Given the description of an element on the screen output the (x, y) to click on. 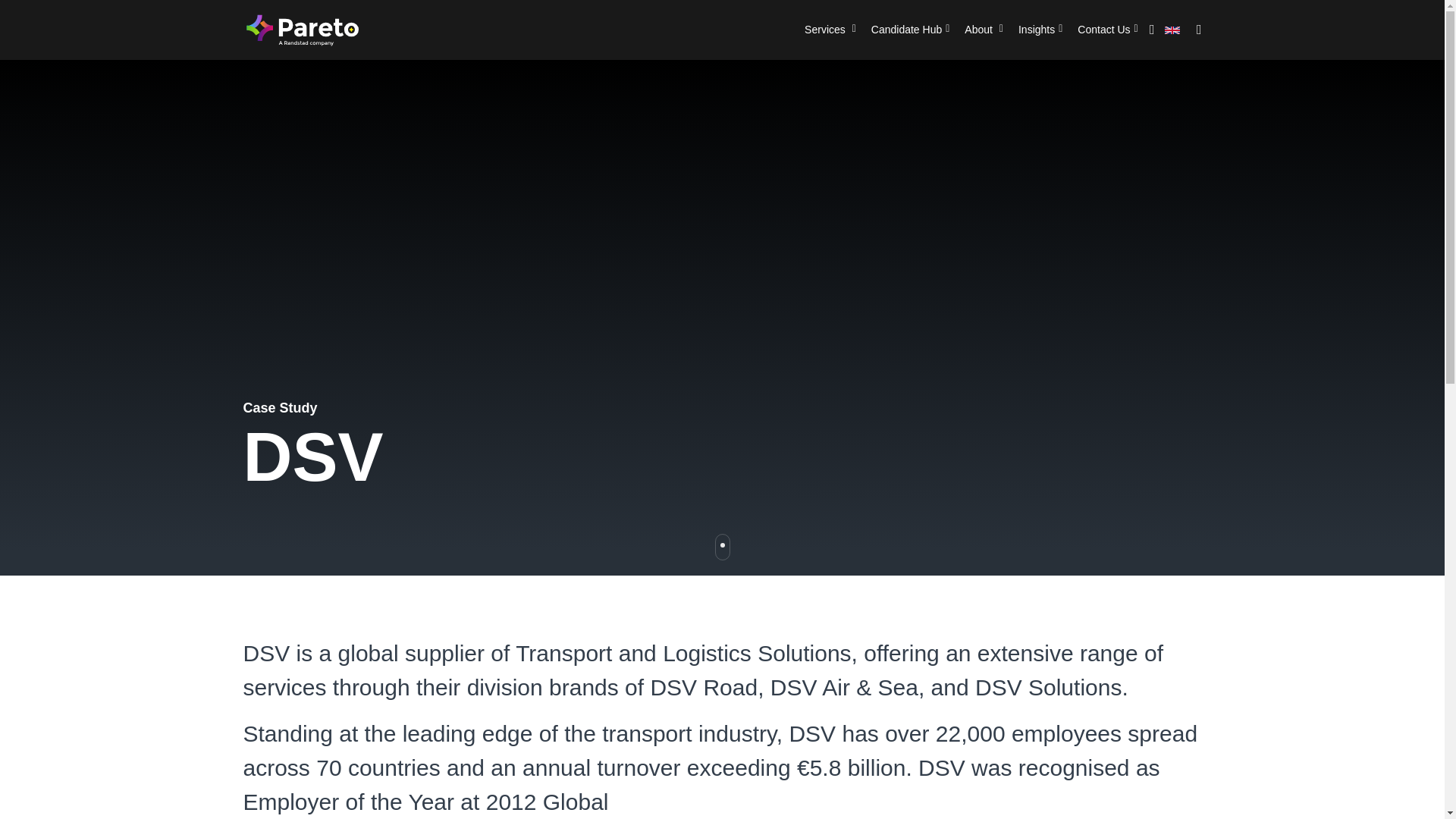
About (983, 29)
Services (829, 29)
Candidate Hub (910, 29)
